Given the description of an element on the screen output the (x, y) to click on. 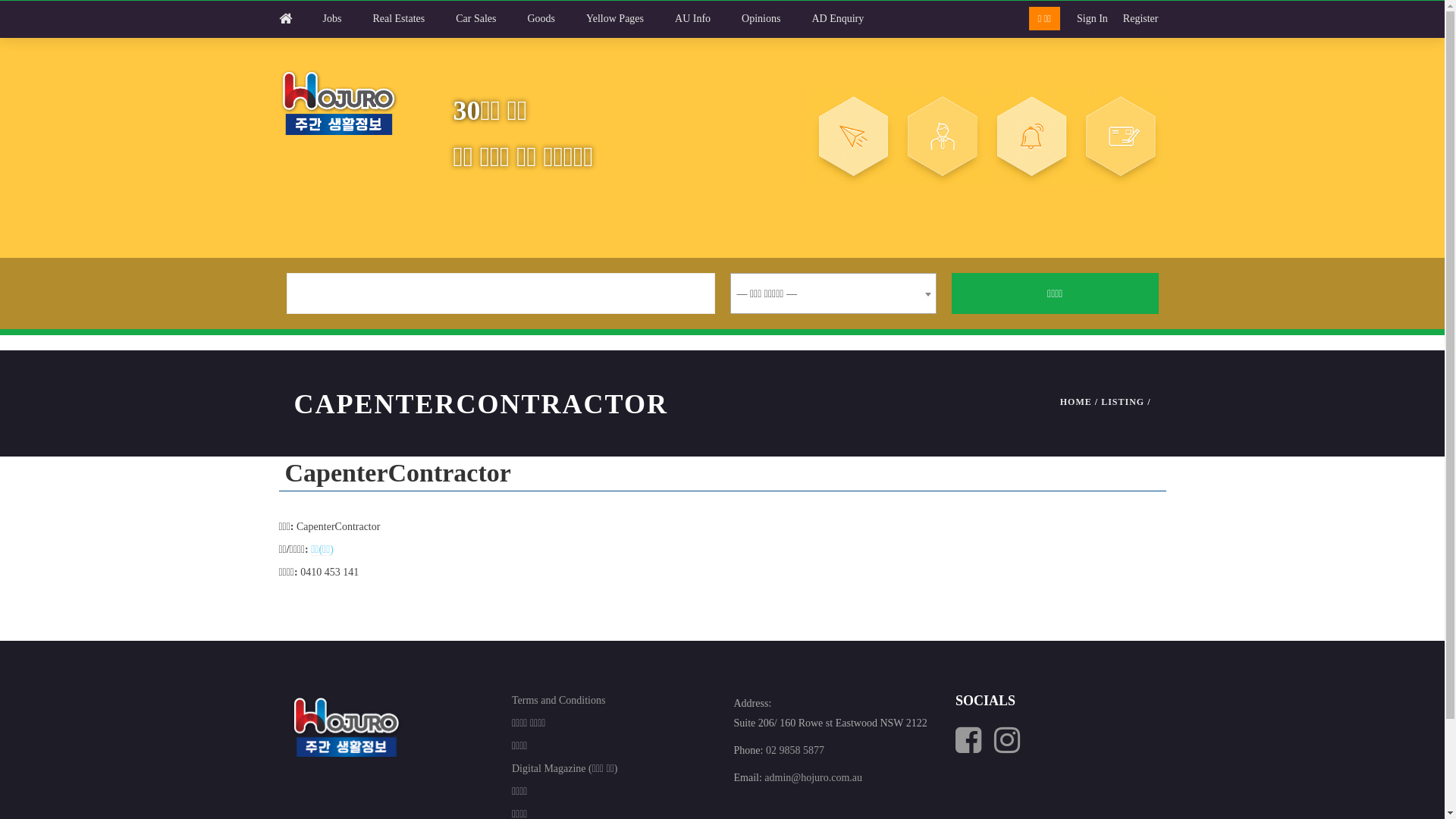
admin@hojuro.com.au Element type: text (813, 777)
02 9858 5877 Element type: text (794, 750)
Terms and Conditions Element type: text (611, 700)
Opinions Element type: text (775, 18)
Sign In Element type: text (1092, 18)
  Element type: text (974, 747)
AD Enquiry Element type: text (852, 18)
AU Info Element type: text (707, 18)
Yellow Pages Element type: text (630, 18)
Jobs Element type: text (347, 18)
Car Sales Element type: text (490, 18)
Register Element type: text (1140, 18)
  Element type: text (1009, 747)
Goods Element type: text (556, 18)
LISTING Element type: text (1122, 401)
Real Estates Element type: text (413, 18)
HOME Element type: text (1076, 401)
Clear  Element type: text (722, 20)
